Given the description of an element on the screen output the (x, y) to click on. 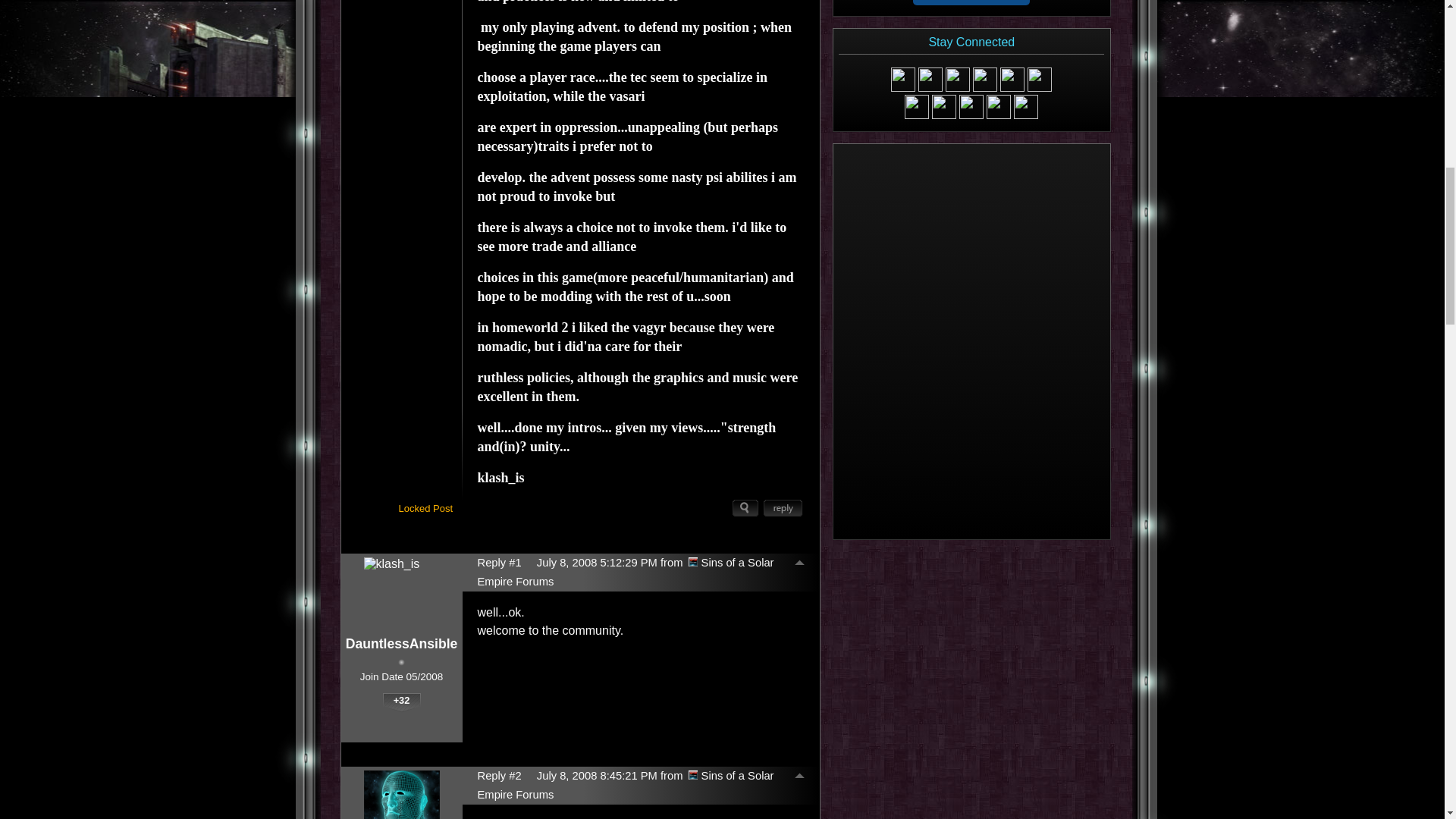
Click user name to view more options. (402, 643)
Search this post (745, 507)
Sins of a Solar Empire Forums (692, 561)
Rank: 1 (400, 662)
Received 1,000 clicks from shared links to a single post (367, 721)
DauntlessAnsible (402, 643)
View all awards (399, 735)
Liked - Received 5 Total Karma (431, 721)
Reply to this post (782, 507)
Sins of a Solar Empire Forums (625, 572)
